Given the description of an element on the screen output the (x, y) to click on. 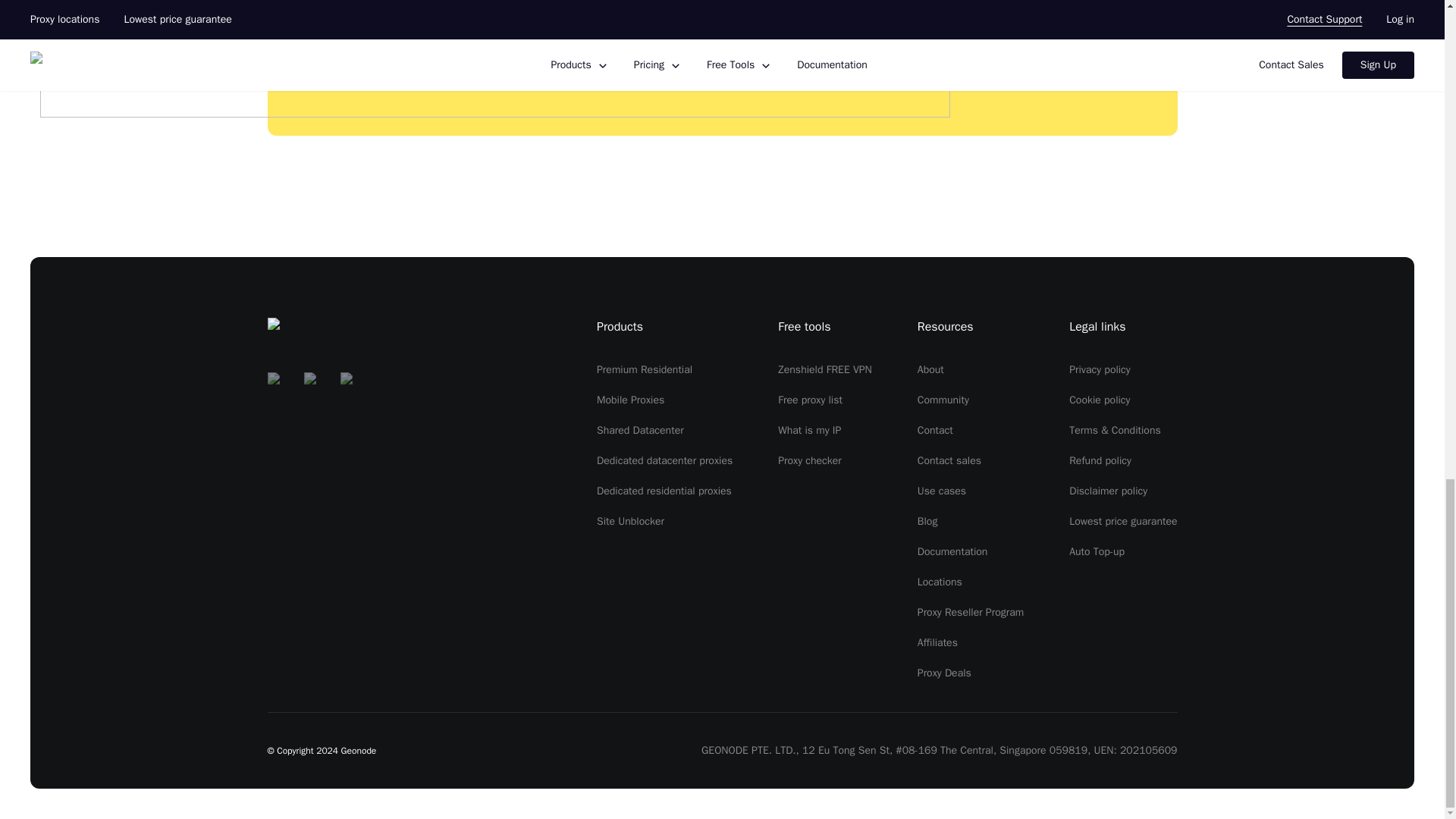
Proxy checker (809, 460)
Contact sales (949, 460)
Blog (927, 521)
Get started (830, 72)
Documentation (952, 551)
Site Unblocker (629, 521)
Contact (935, 430)
Dedicated residential proxies (664, 490)
Free proxy list (810, 399)
Proxy Deals (944, 672)
